Given the description of an element on the screen output the (x, y) to click on. 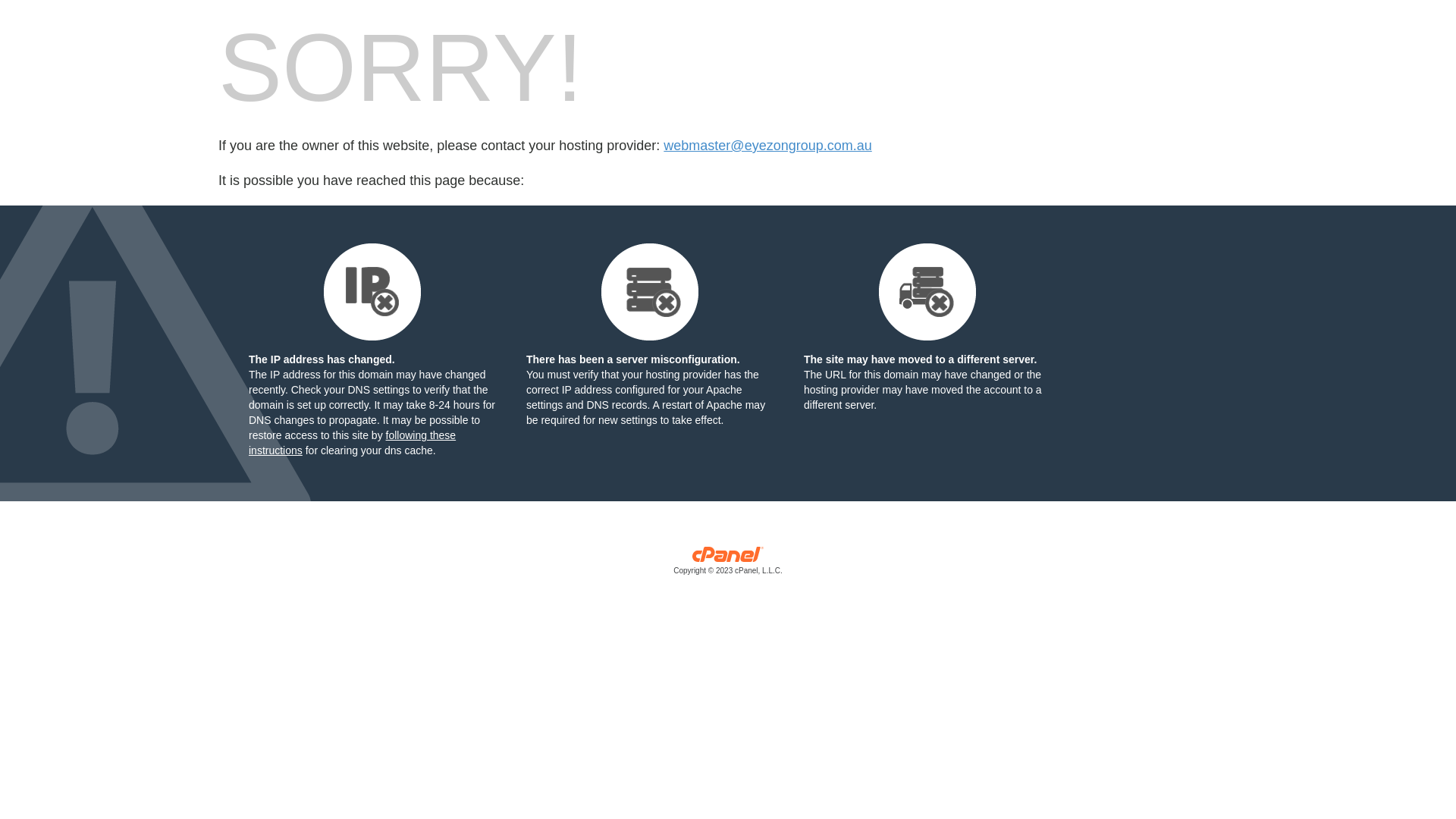
webmaster@eyezongroup.com.au Element type: text (767, 145)
following these instructions Element type: text (351, 442)
